Given the description of an element on the screen output the (x, y) to click on. 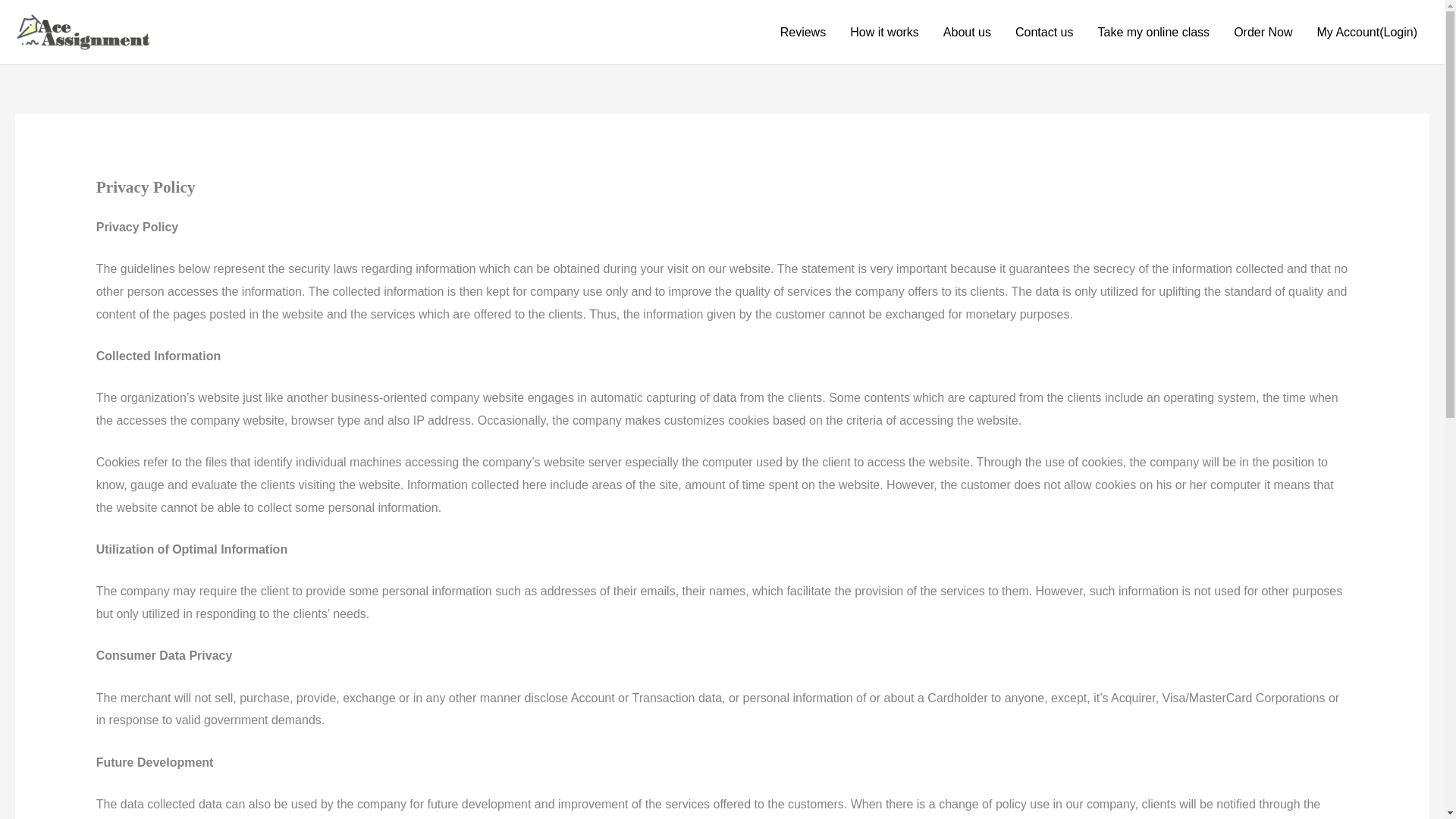
Reviews (803, 31)
Order Now (1262, 31)
Contact us (1043, 31)
Take my online class (1154, 31)
How it works (884, 31)
About us (967, 31)
